Given the description of an element on the screen output the (x, y) to click on. 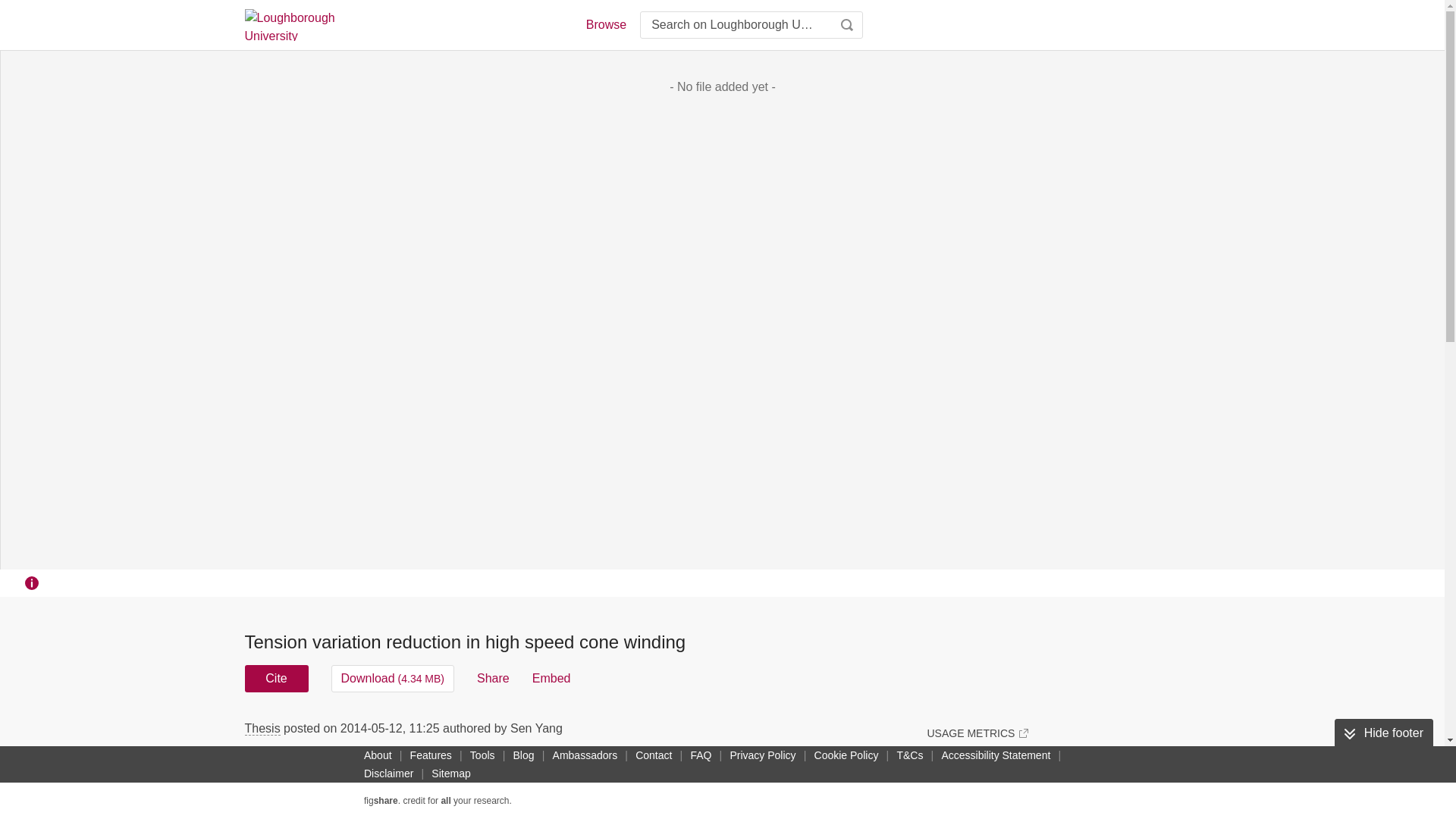
Share (493, 678)
Cite (275, 678)
Hide footer (1383, 733)
Accessibility Statement (995, 755)
Features (431, 755)
Sitemap (450, 773)
Contact (653, 755)
FAQ (700, 755)
USAGE METRICS (976, 732)
Blog (523, 755)
